Given the description of an element on the screen output the (x, y) to click on. 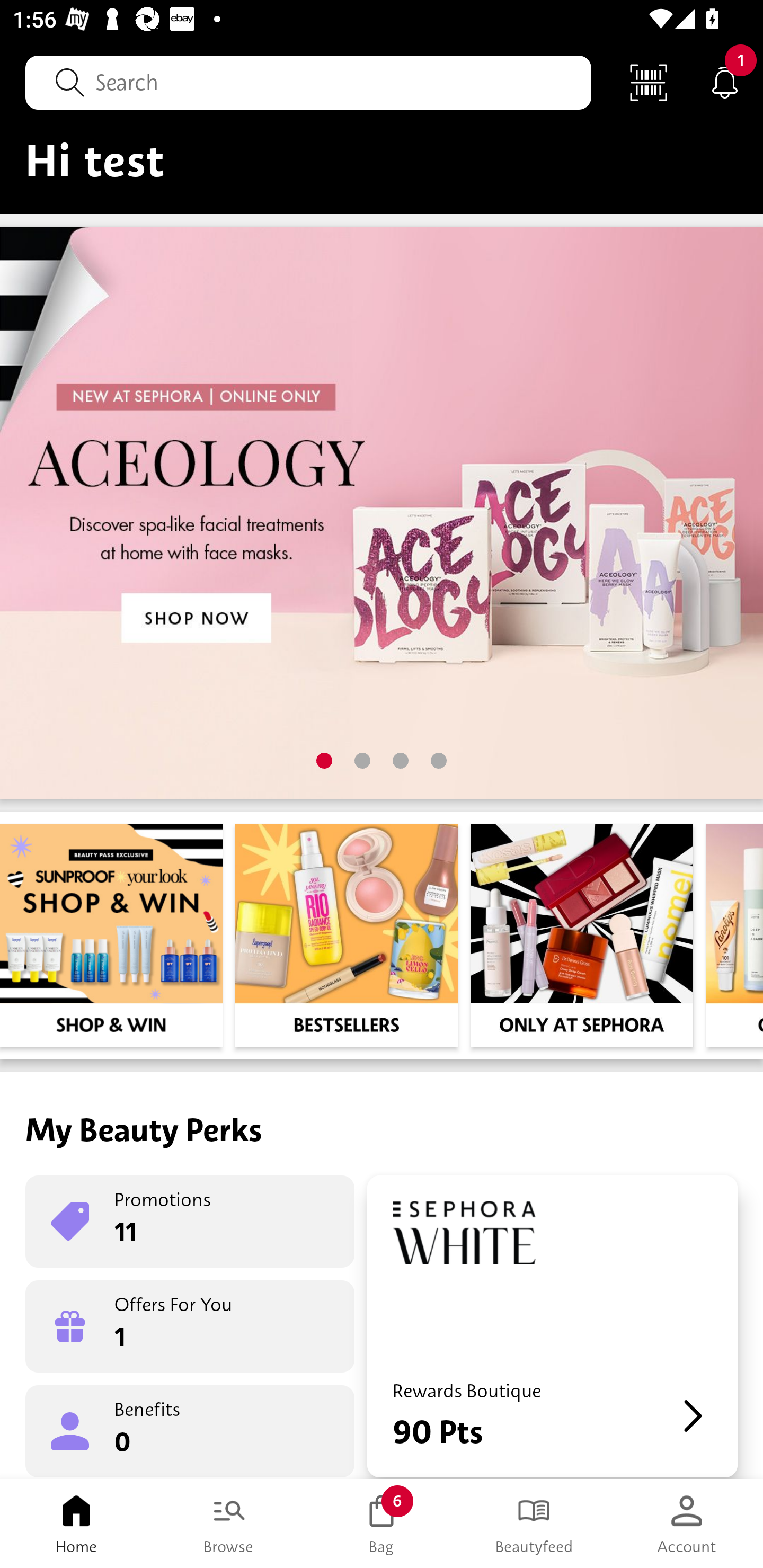
Scan Code (648, 81)
Notifications (724, 81)
Search (308, 81)
Promotions 11 (189, 1221)
Rewards Boutique 90 Pts (552, 1326)
Offers For You 1 (189, 1326)
Benefits 0 (189, 1430)
Browse (228, 1523)
Bag 6 Bag (381, 1523)
Beautyfeed (533, 1523)
Account (686, 1523)
